Given the description of an element on the screen output the (x, y) to click on. 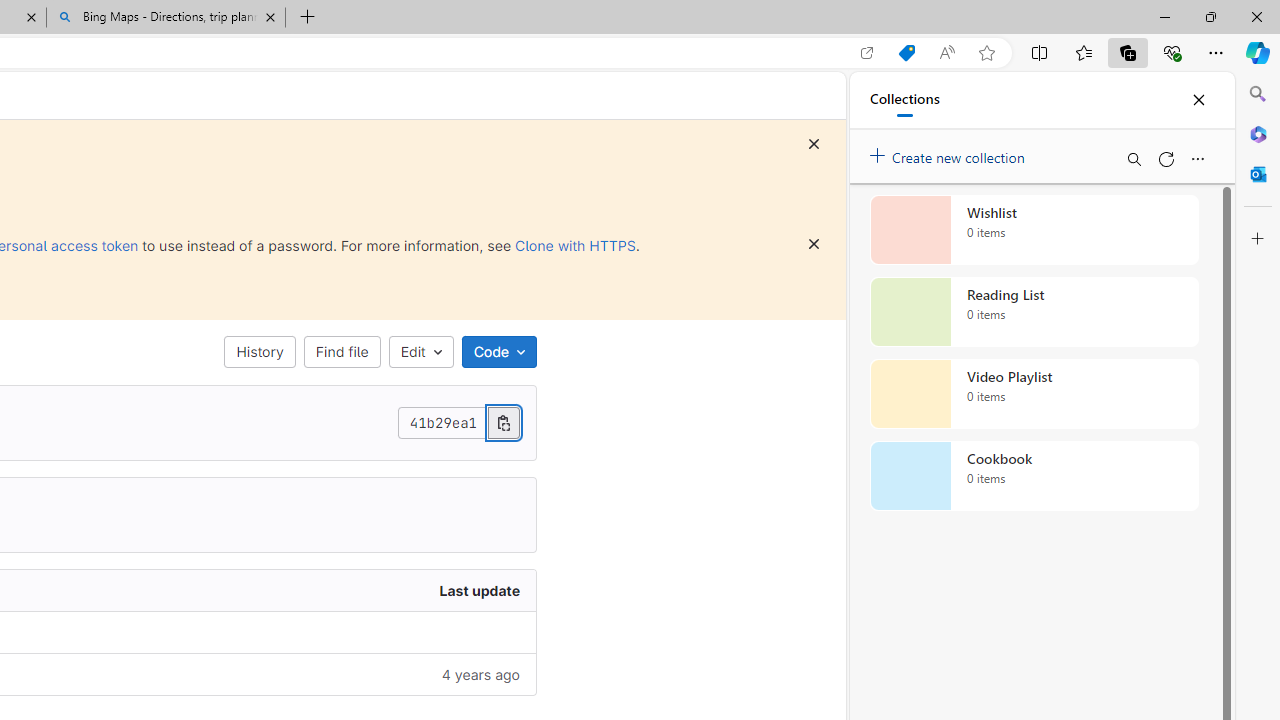
More options menu (1197, 158)
Last update (289, 591)
Create new collection (950, 153)
History (259, 351)
Video Playlist collection, 0 items (1034, 394)
